Given the description of an element on the screen output the (x, y) to click on. 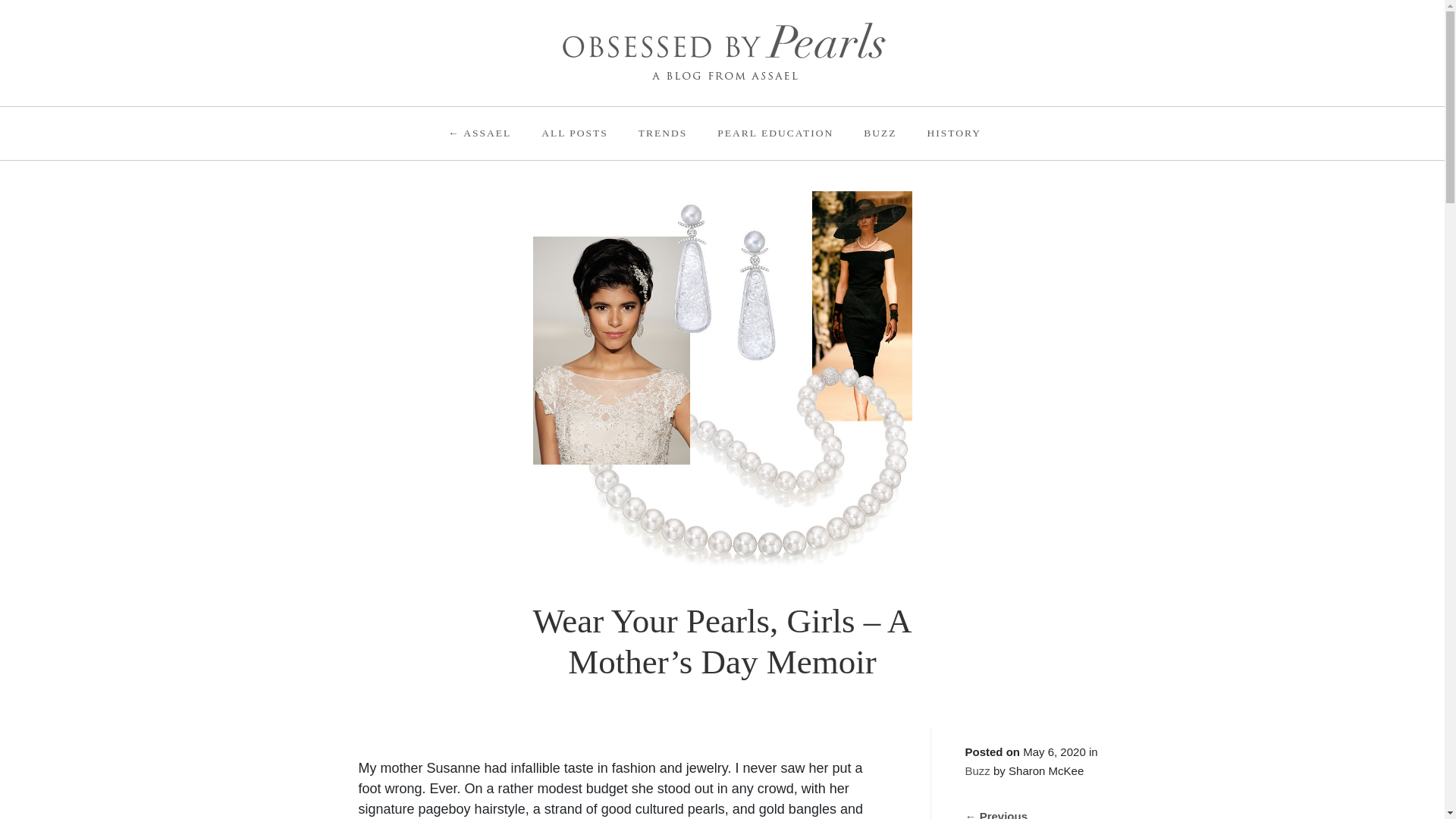
ALL POSTS (574, 132)
TRENDS (662, 132)
Buzz (976, 770)
BUZZ (880, 132)
HISTORY (953, 132)
PEARL EDUCATION (775, 132)
